Given the description of an element on the screen output the (x, y) to click on. 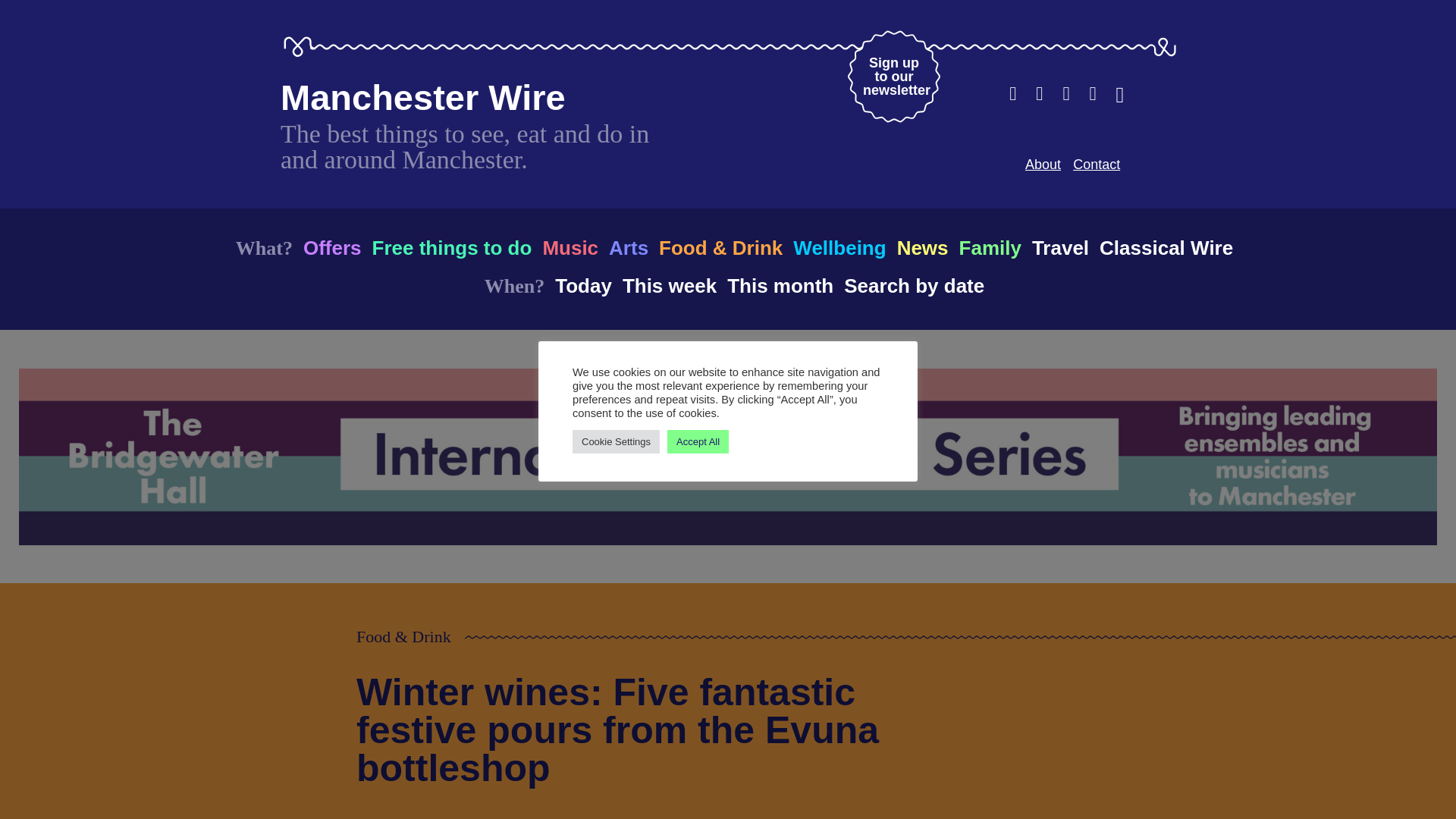
This week (669, 285)
Family (990, 248)
Offers (331, 248)
Free things to do (451, 248)
Manchester Wire (423, 96)
This month (779, 285)
Today (582, 285)
News (922, 248)
Classical Wire (1166, 248)
About (1043, 164)
